Given the description of an element on the screen output the (x, y) to click on. 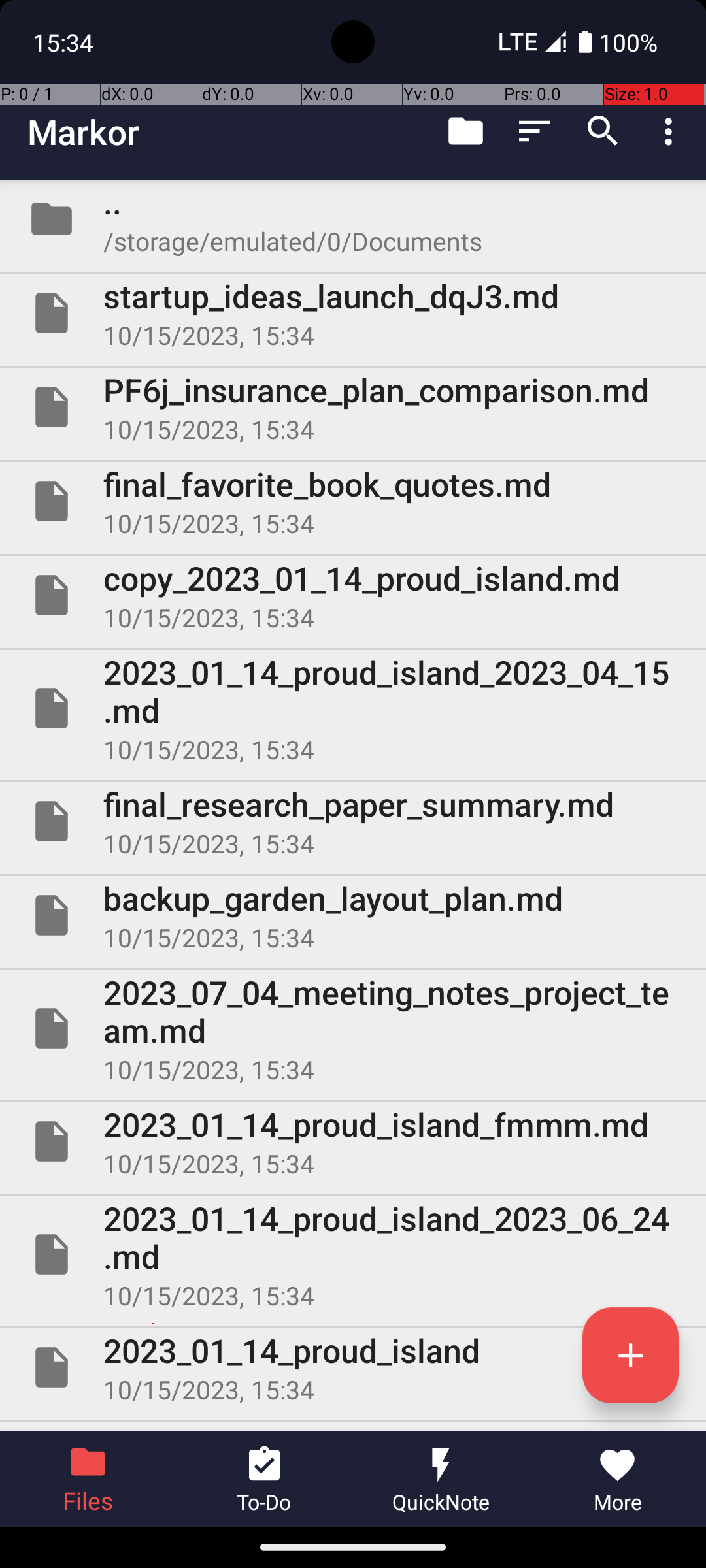
File startup_ideas_launch_dqJ3.md  Element type: android.widget.LinearLayout (353, 312)
File PF6j_insurance_plan_comparison.md  Element type: android.widget.LinearLayout (353, 406)
File final_favorite_book_quotes.md  Element type: android.widget.LinearLayout (353, 500)
File copy_2023_01_14_proud_island.md  Element type: android.widget.LinearLayout (353, 594)
File 2023_01_14_proud_island_2023_04_15.md  Element type: android.widget.LinearLayout (353, 708)
File final_research_paper_summary.md  Element type: android.widget.LinearLayout (353, 821)
File backup_garden_layout_plan.md  Element type: android.widget.LinearLayout (353, 915)
File 2023_07_04_meeting_notes_project_team.md  Element type: android.widget.LinearLayout (353, 1028)
File 2023_01_14_proud_island_fmmm.md  Element type: android.widget.LinearLayout (353, 1141)
File 2023_01_14_proud_island_2023_06_24.md  Element type: android.widget.LinearLayout (353, 1254)
File 2023_01_14_proud_island  Element type: android.widget.LinearLayout (353, 1367)
